Given the description of an element on the screen output the (x, y) to click on. 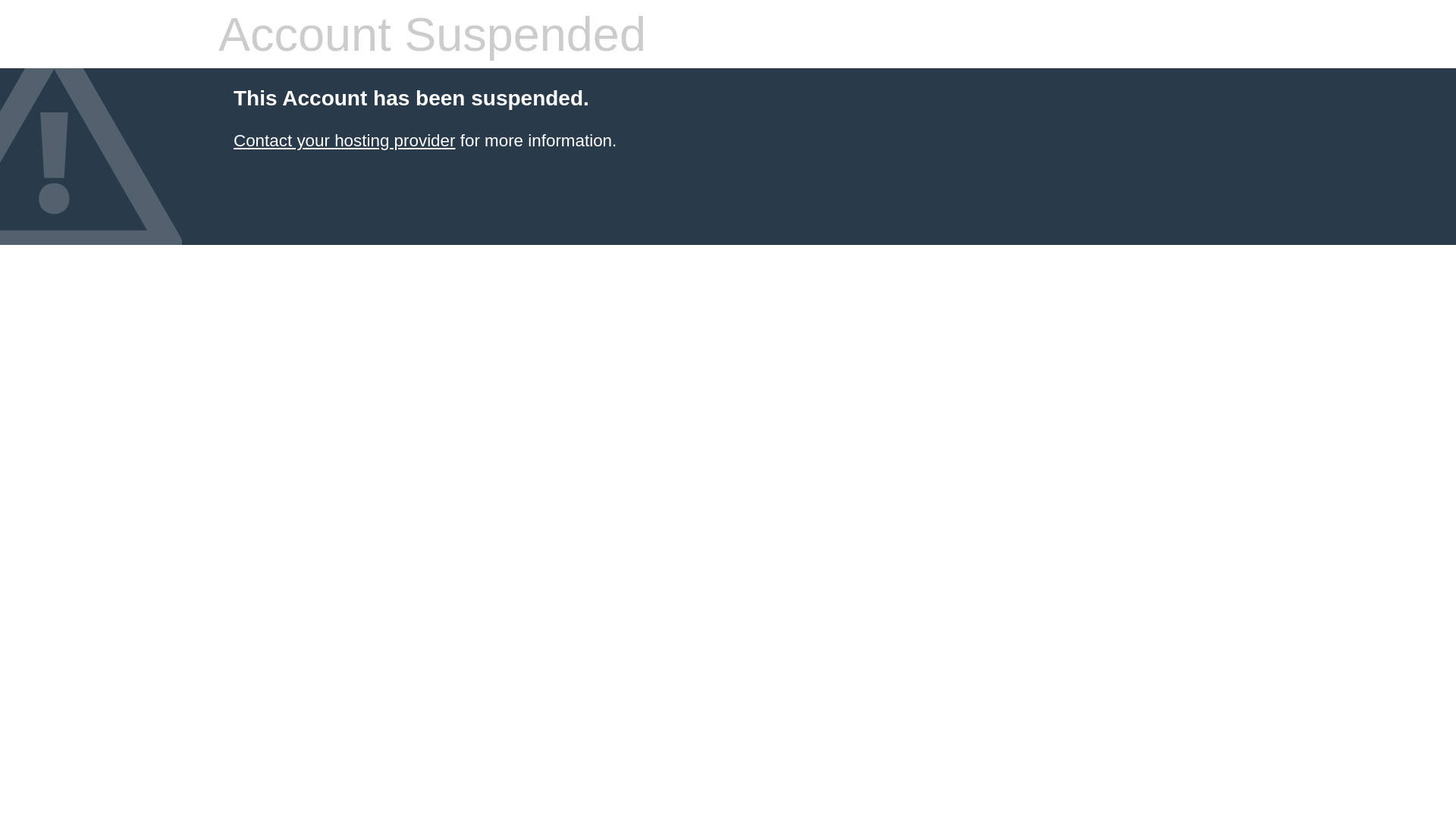
Contact your hosting provider Element type: text (344, 140)
